Given the description of an element on the screen output the (x, y) to click on. 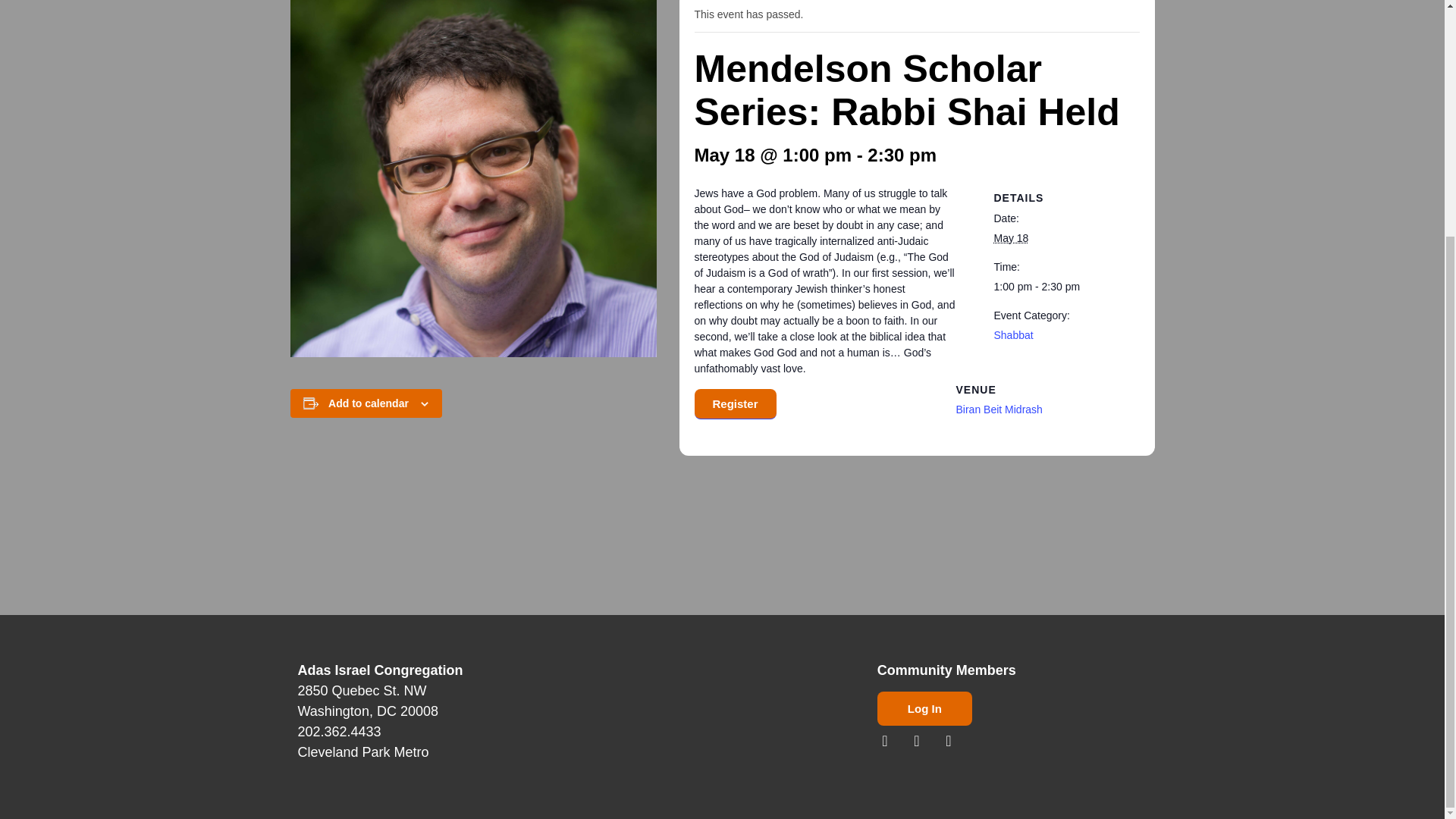
Register (735, 404)
Log In (924, 708)
2024-05-18 (1056, 286)
2024-05-18 (1009, 237)
Add to calendar (369, 403)
Shabbat (1012, 335)
Biran Beit Midrash (998, 409)
